Given the description of an element on the screen output the (x, y) to click on. 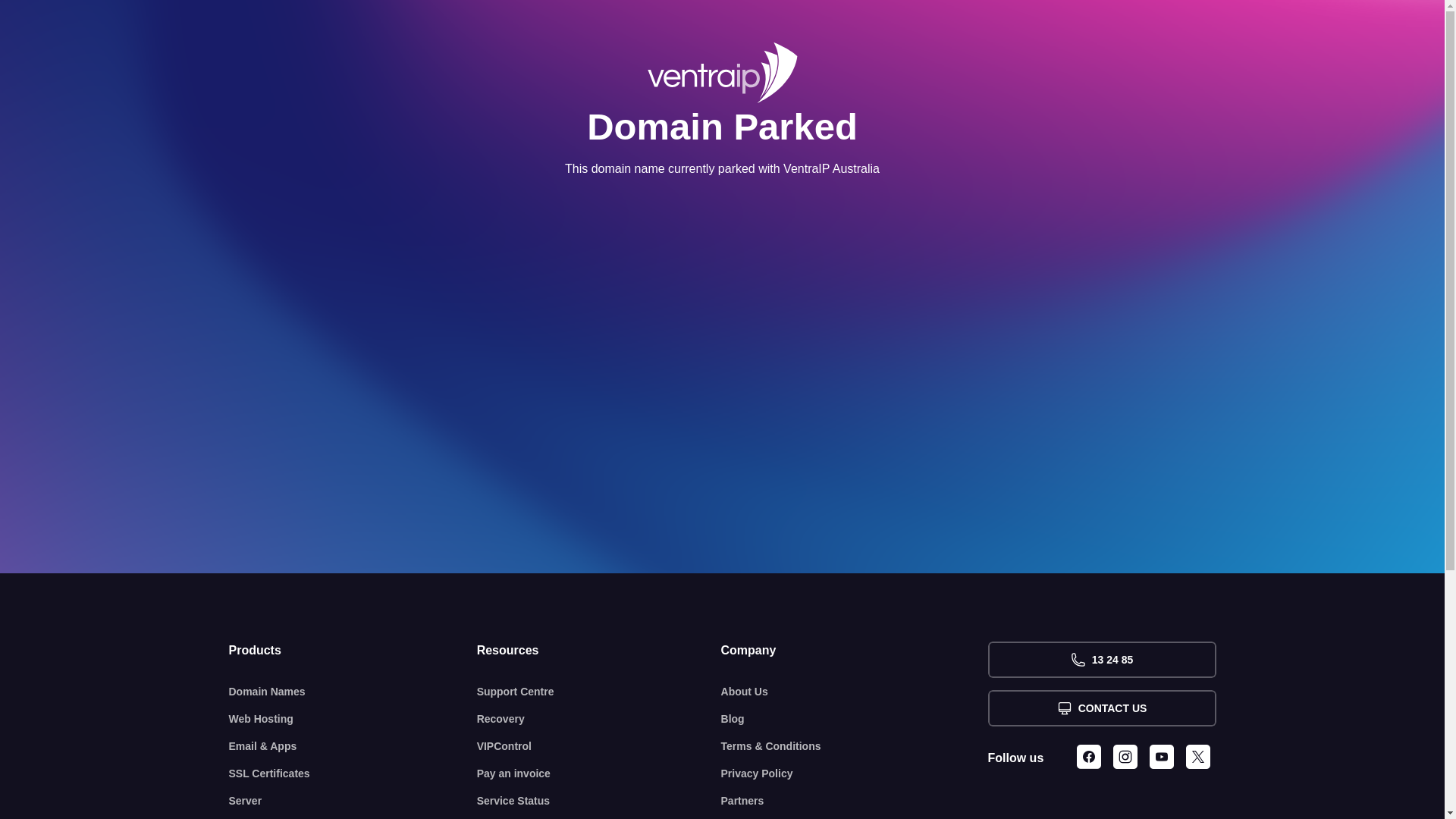
Recovery Element type: text (598, 718)
VIPControl Element type: text (598, 745)
Support Centre Element type: text (598, 691)
Email & Apps Element type: text (352, 745)
SSL Certificates Element type: text (352, 773)
Web Hosting Element type: text (352, 718)
Partners Element type: text (854, 800)
Terms & Conditions Element type: text (854, 745)
Privacy Policy Element type: text (854, 773)
Blog Element type: text (854, 718)
Pay an invoice Element type: text (598, 773)
Server Element type: text (352, 800)
About Us Element type: text (854, 691)
13 24 85 Element type: text (1101, 659)
Domain Names Element type: text (352, 691)
CONTACT US Element type: text (1101, 708)
Service Status Element type: text (598, 800)
